Given the description of an element on the screen output the (x, y) to click on. 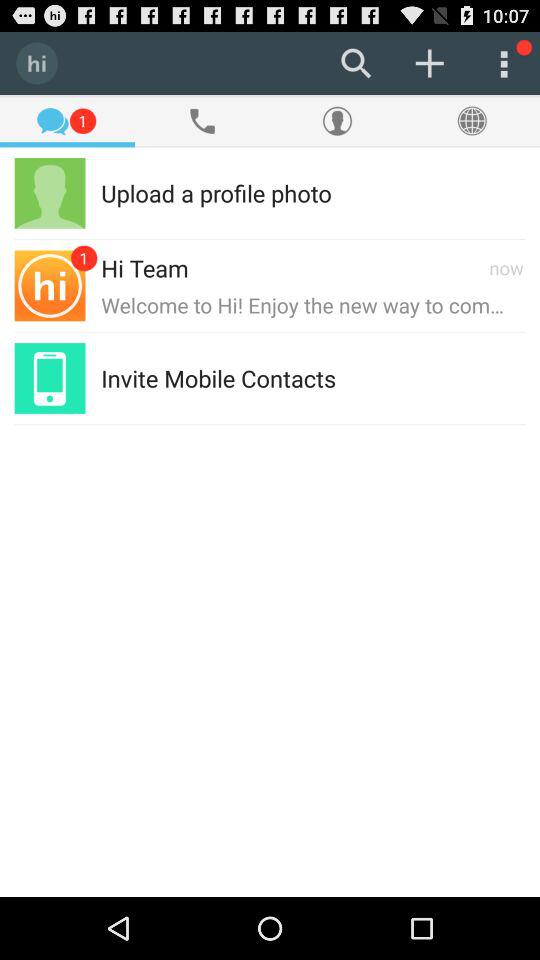
turn off the hi team item (144, 267)
